Given the description of an element on the screen output the (x, y) to click on. 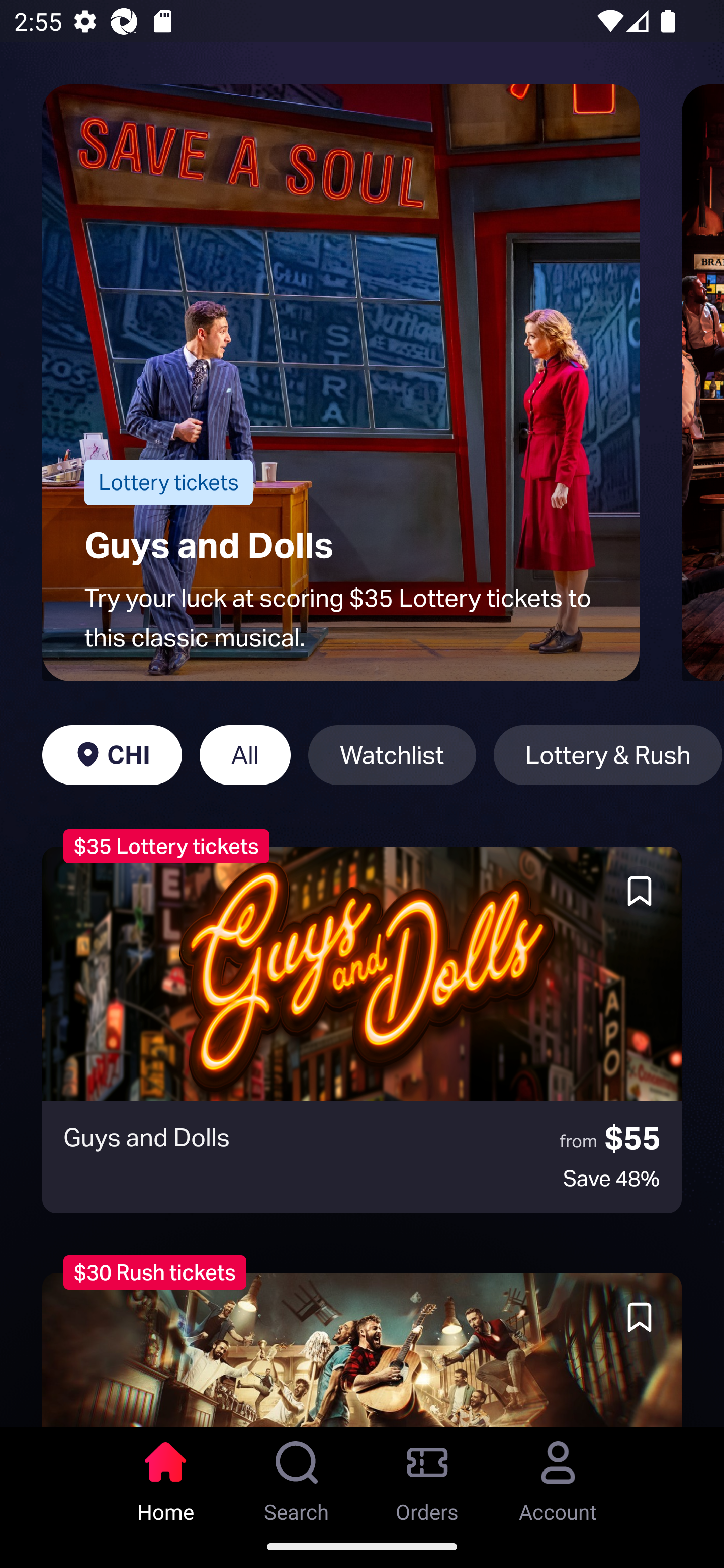
CHI (111, 754)
All (244, 754)
Watchlist (392, 754)
Lottery & Rush (607, 754)
Guys and Dolls from $55 Save 48% (361, 1029)
Search (296, 1475)
Orders (427, 1475)
Account (558, 1475)
